Given the description of an element on the screen output the (x, y) to click on. 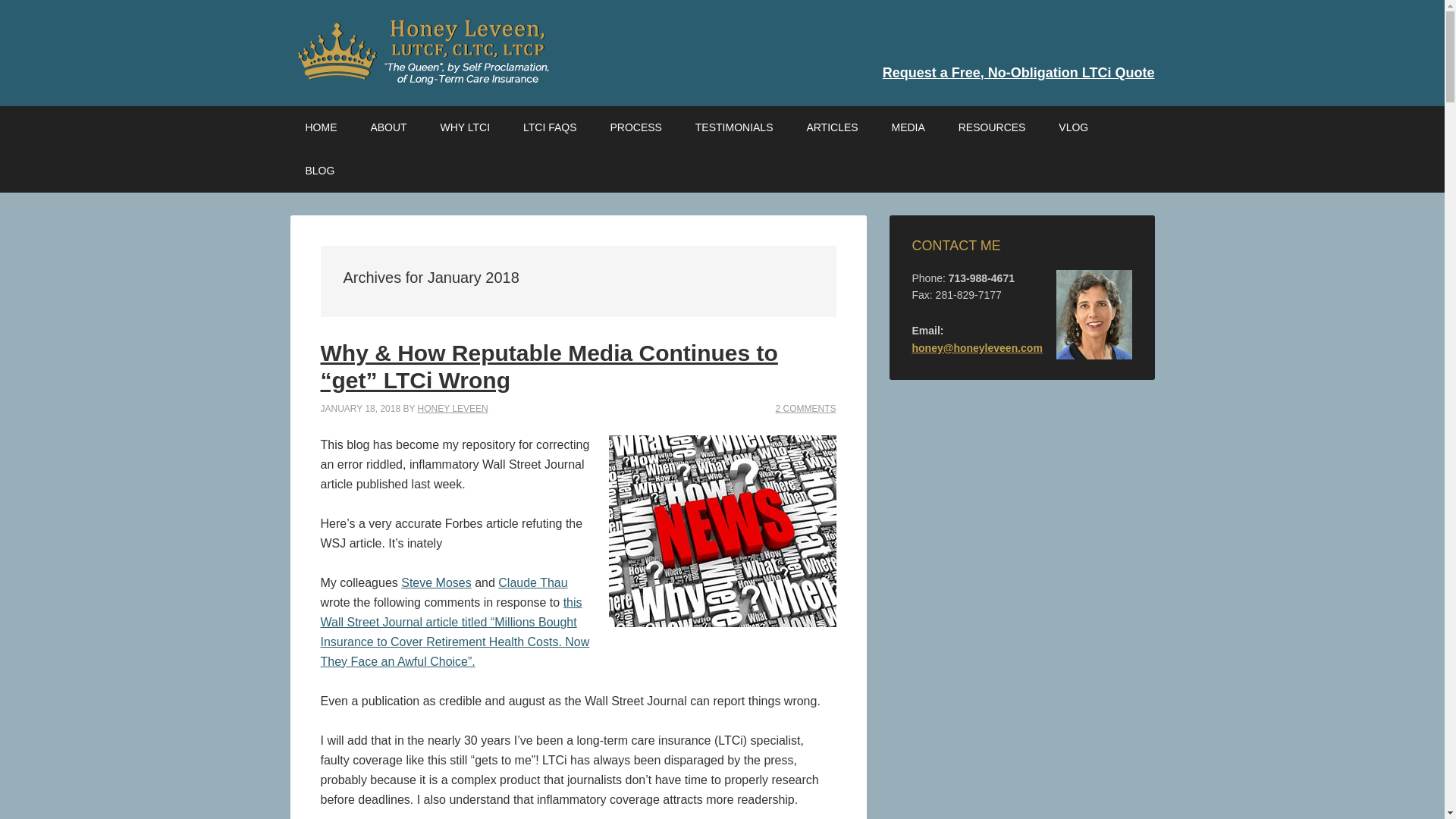
Claude Thau (532, 582)
Steve Moses (435, 582)
MEDIA (908, 127)
PROCESS (635, 127)
TESTIMONIALS (734, 127)
HOME (320, 127)
Request a Free, No-Obligation LTCi Quote (1018, 72)
VLOG (1073, 127)
WHY LTCI (465, 127)
ABOUT (388, 127)
